Given the description of an element on the screen output the (x, y) to click on. 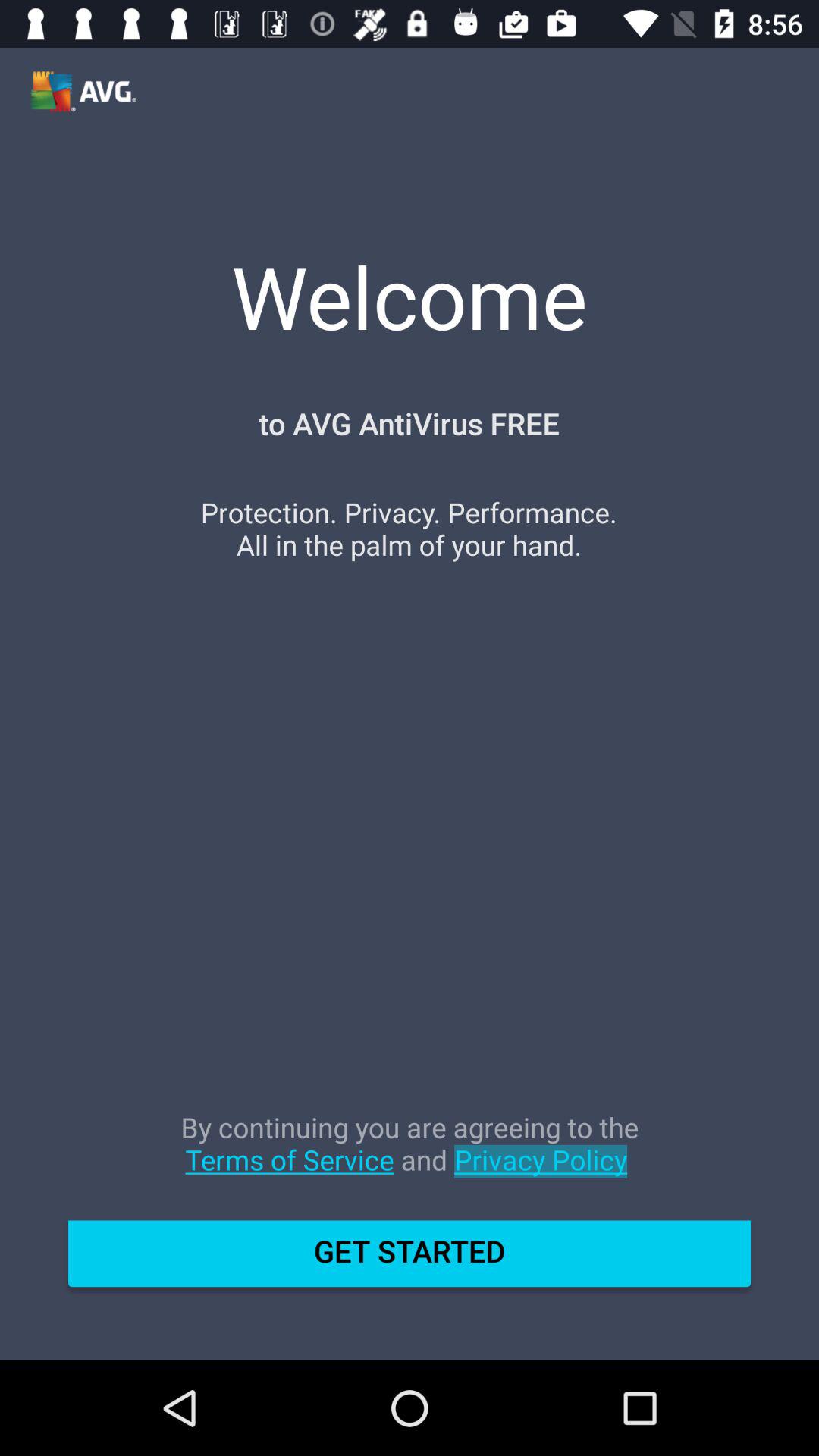
flip to get started item (409, 1259)
